Given the description of an element on the screen output the (x, y) to click on. 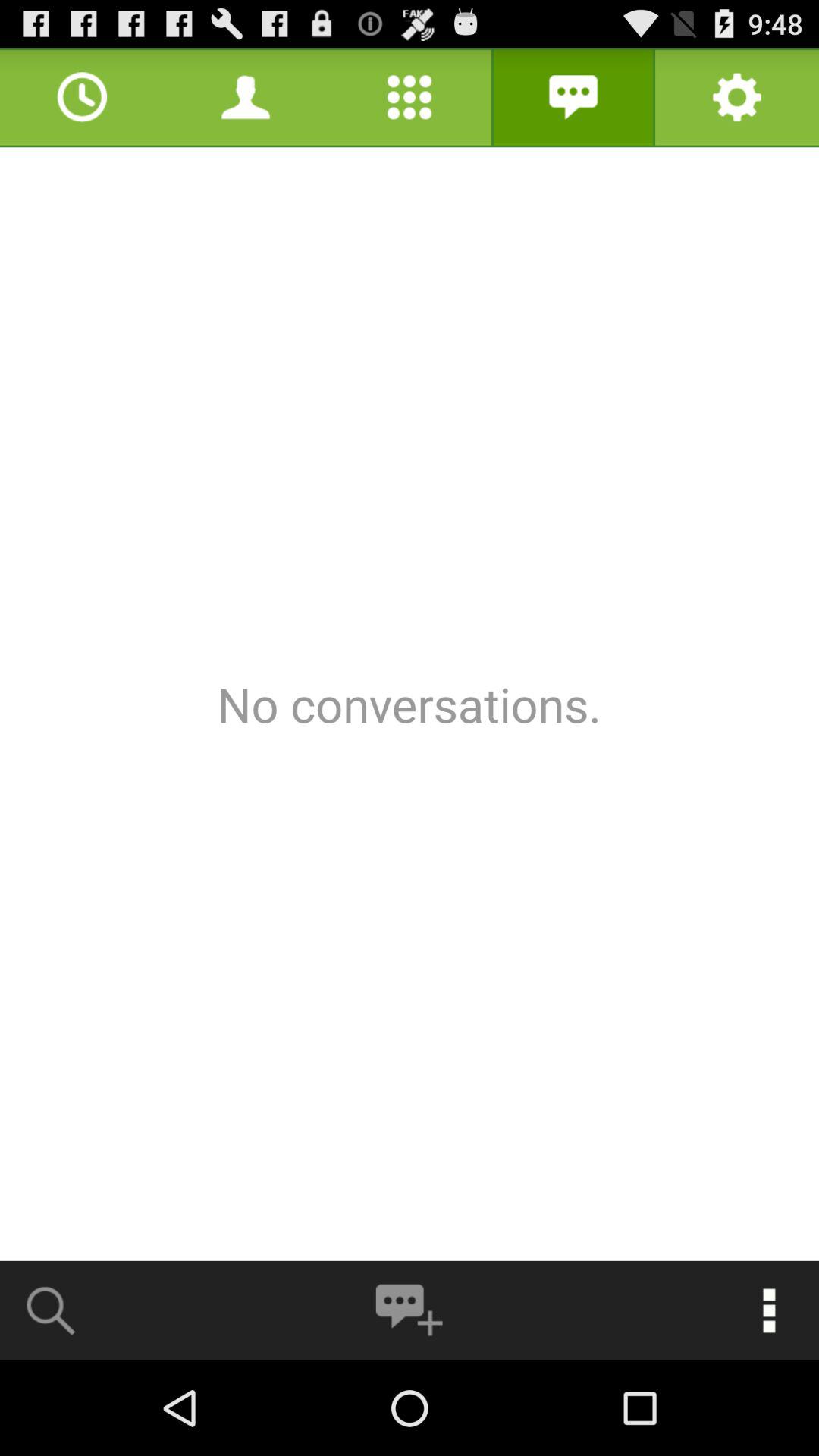
start new conversation (409, 1310)
